Given the description of an element on the screen output the (x, y) to click on. 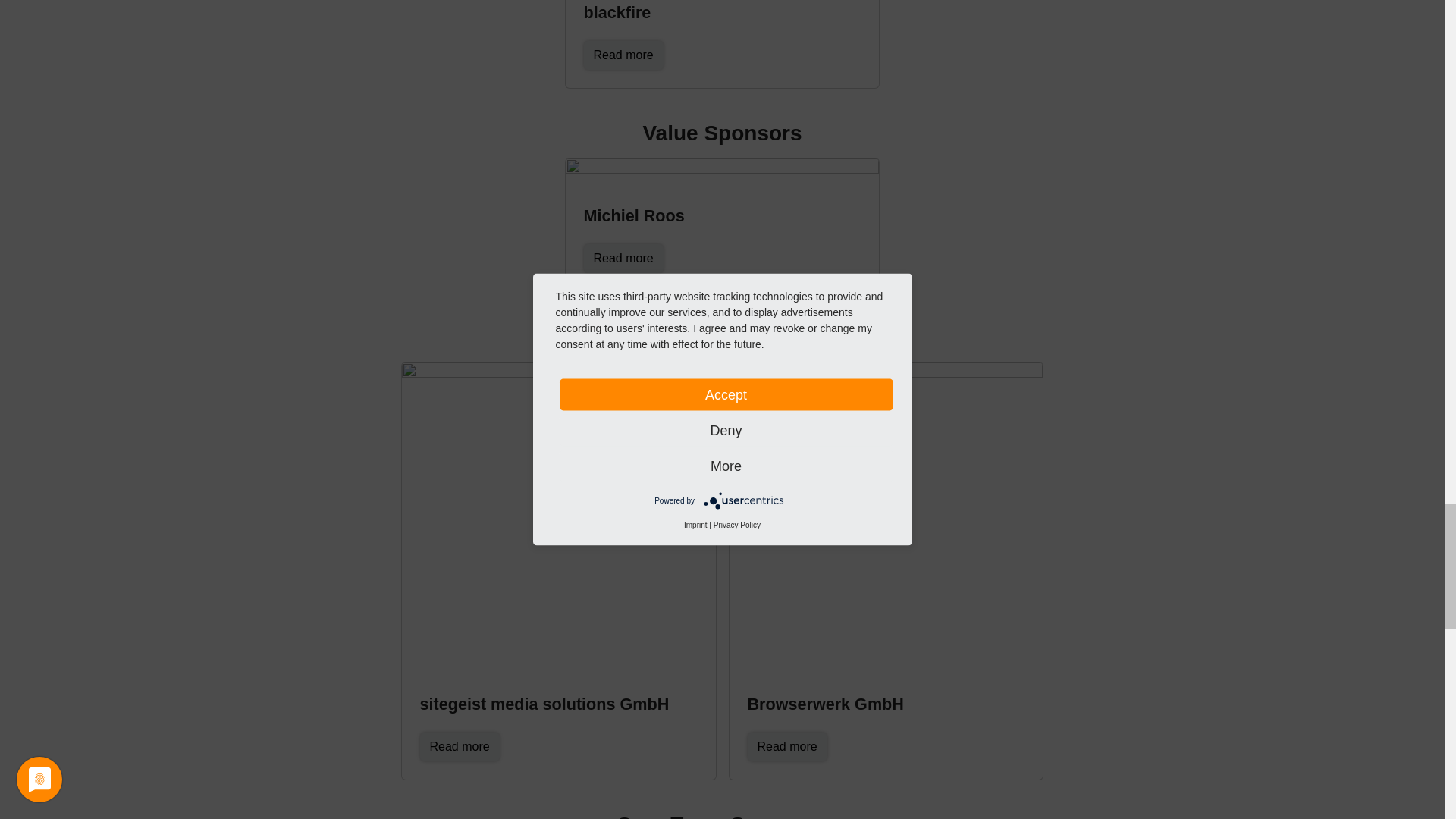
Read more (787, 746)
Read more (623, 258)
Read more (459, 746)
Read more (623, 54)
